Given the description of an element on the screen output the (x, y) to click on. 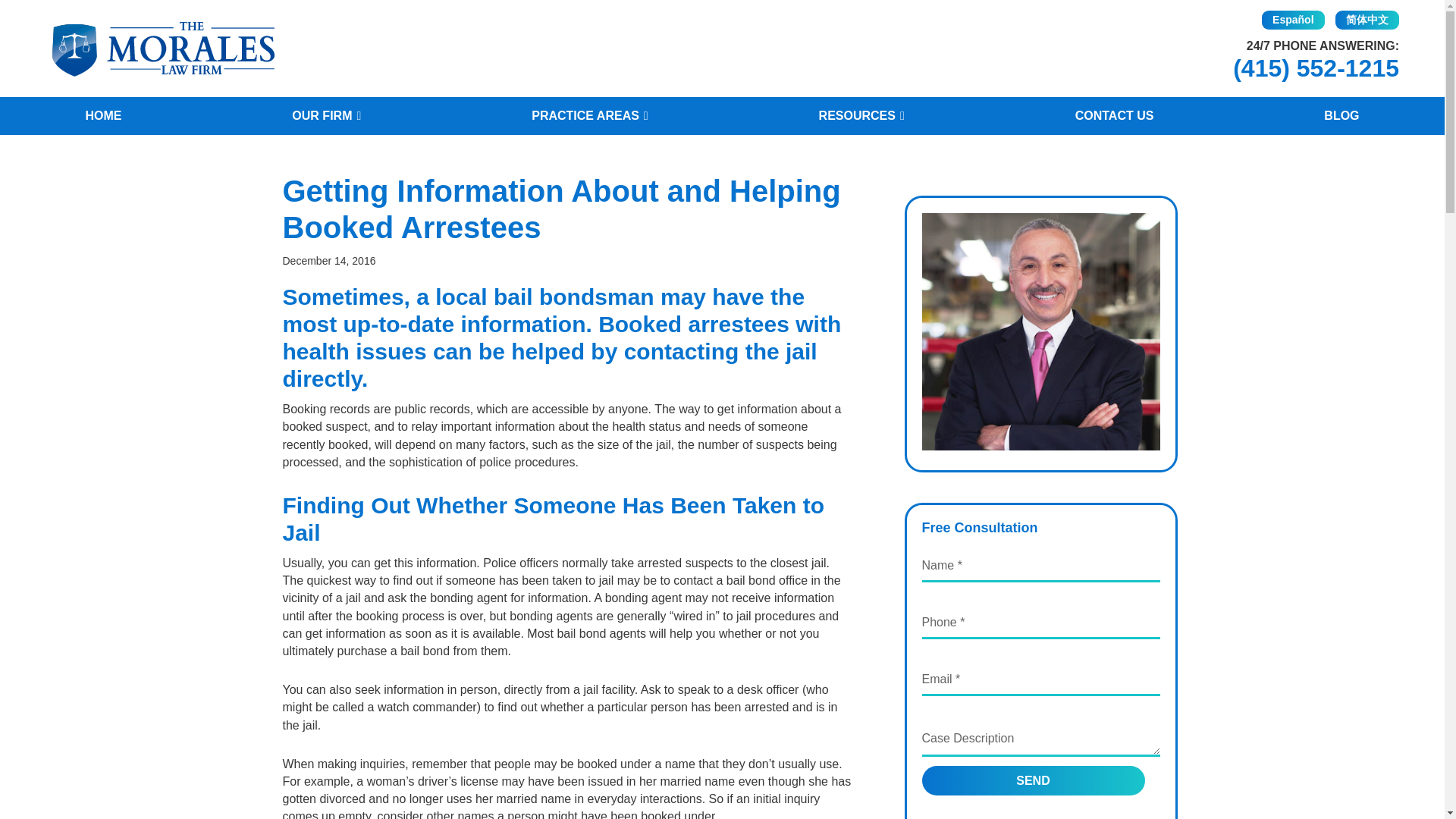
BLOG (1341, 116)
Send (1032, 780)
OUR FIRM (325, 116)
Send (1032, 780)
CONTACT US (1114, 116)
PRACTICE AREAS (589, 116)
HOME (102, 116)
RESOURCES (861, 116)
Morales Law Firm (162, 48)
